Given the description of an element on the screen output the (x, y) to click on. 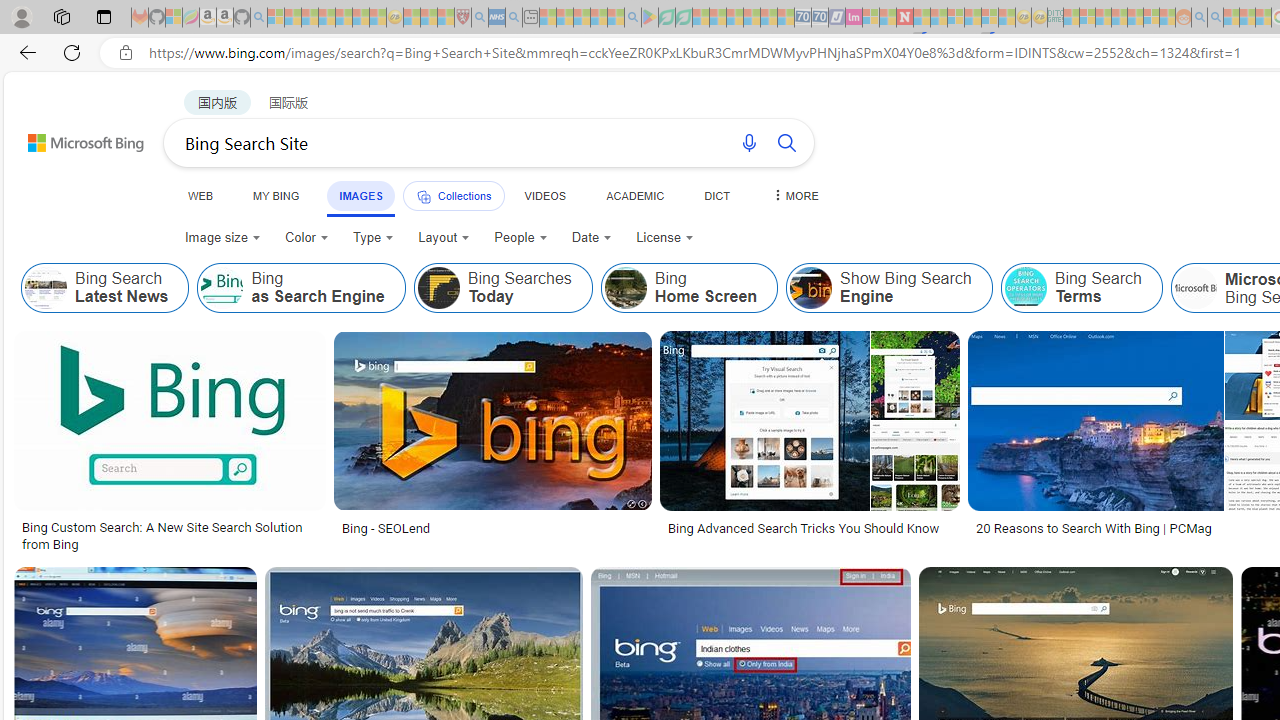
Bing Custom Search: A New Site Search Solution from Bing (169, 535)
Bing Advanced Search Tricks You Should KnowSave (813, 444)
MORE (793, 195)
DICT (717, 195)
Bing - SEOLend (386, 528)
Search button (786, 142)
People (520, 237)
License (665, 237)
Bing - SEOLendSave (497, 444)
